Given the description of an element on the screen output the (x, y) to click on. 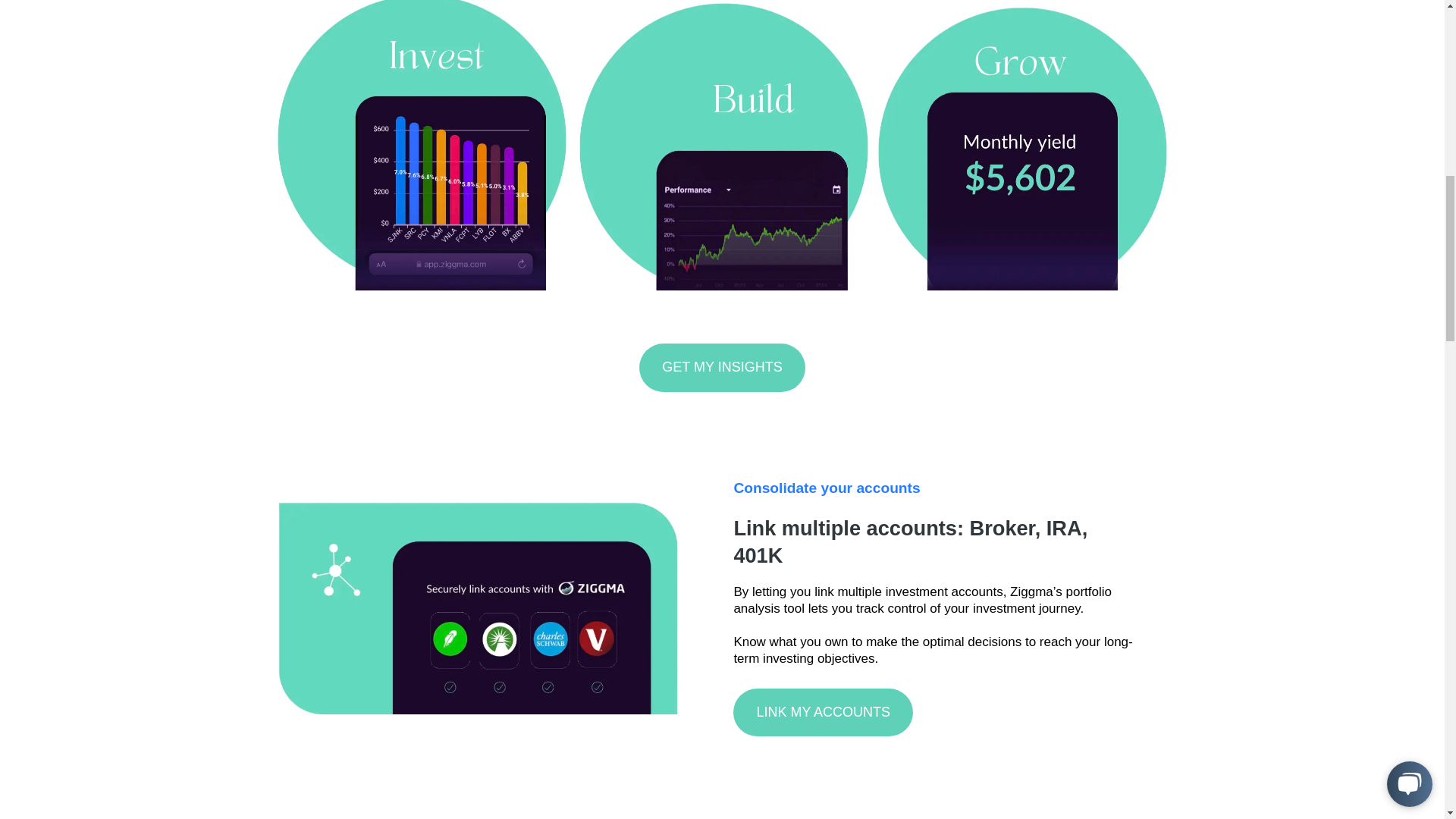
GET MY INSIGHTS (722, 367)
LINK MY ACCOUNTS (822, 712)
